Given the description of an element on the screen output the (x, y) to click on. 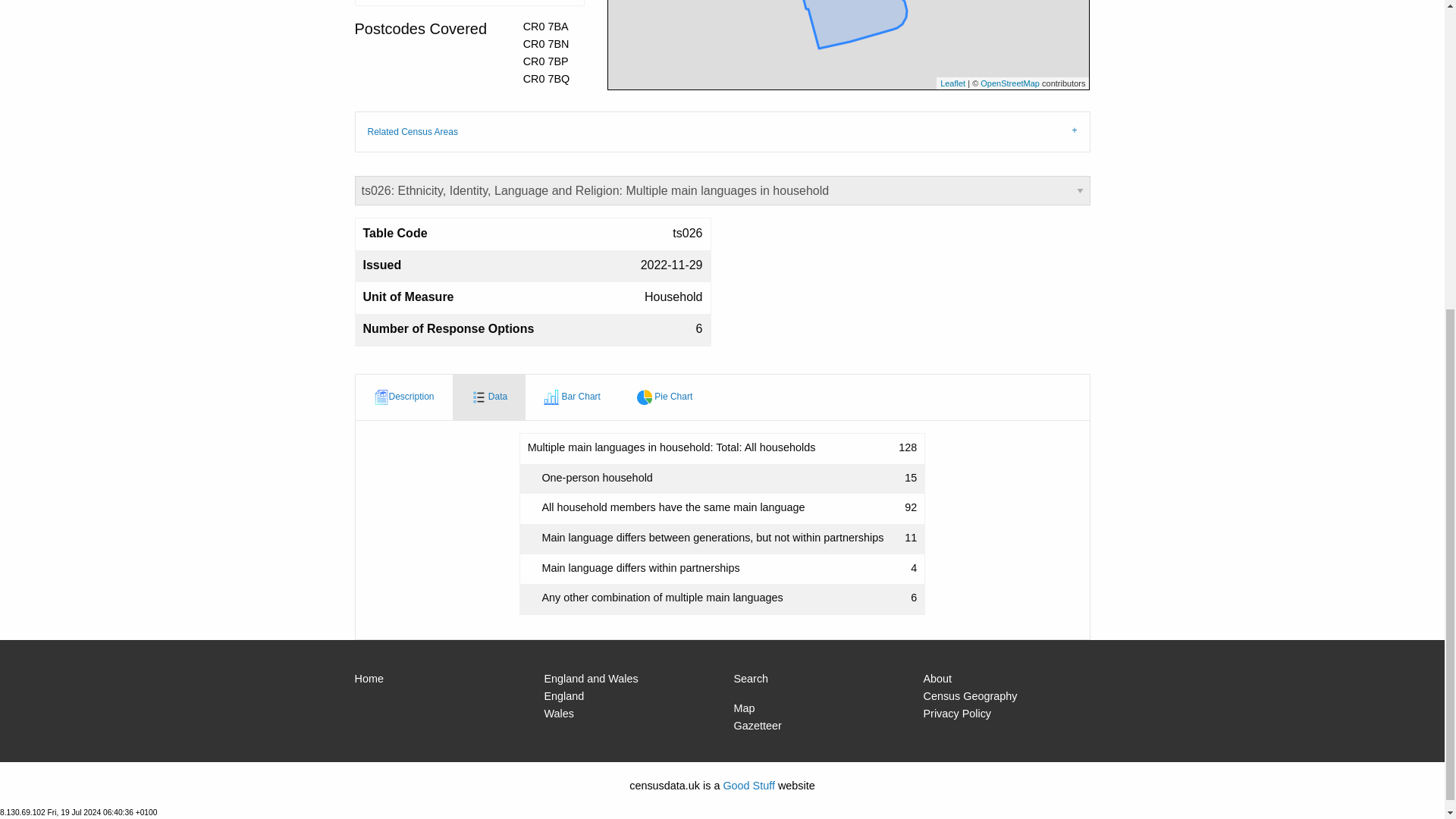
OpenStreetMap (1009, 82)
Related Census Areas (722, 131)
Leaflet (952, 82)
A JS library for interactive maps (952, 82)
